Given the description of an element on the screen output the (x, y) to click on. 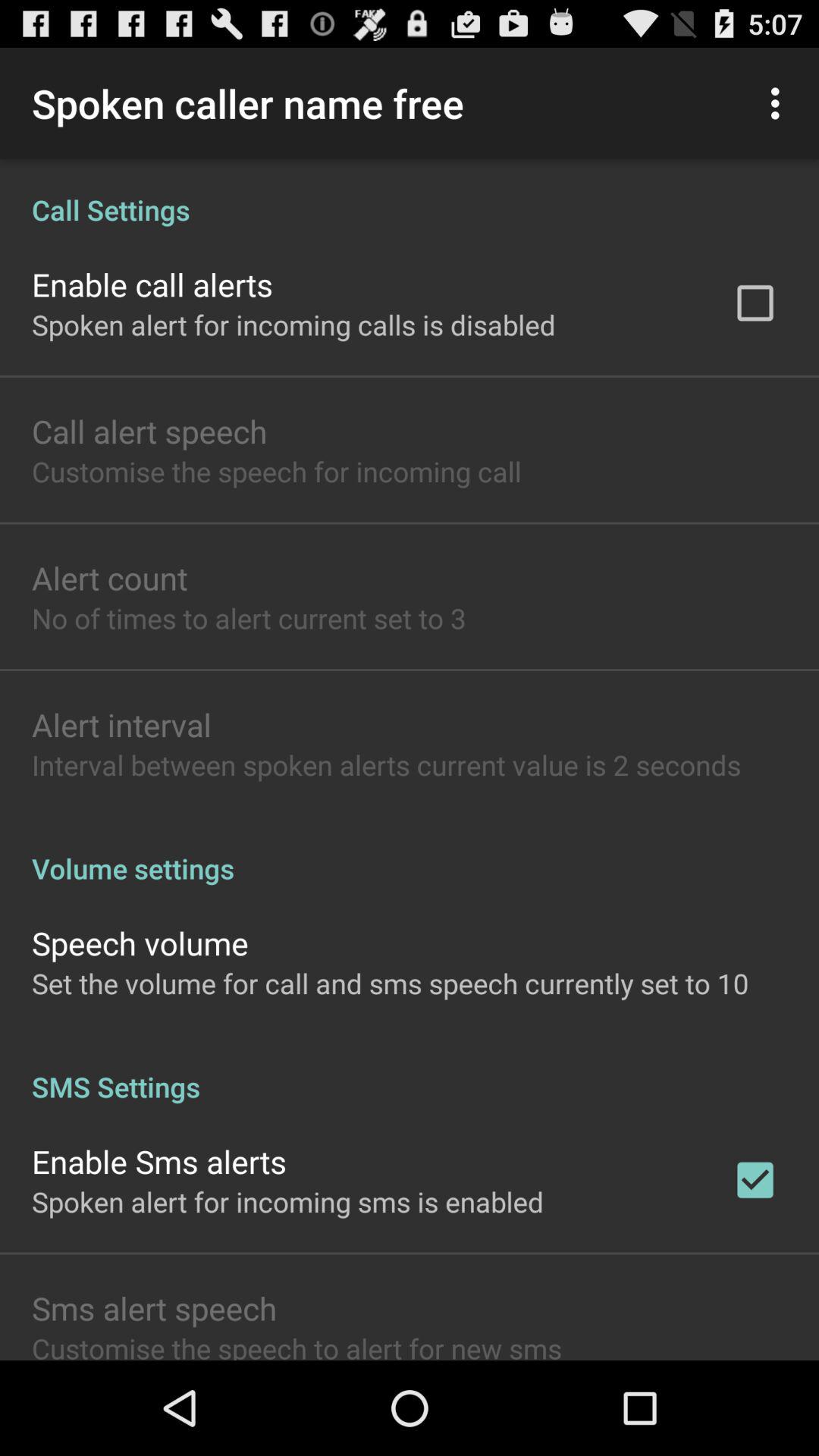
open alert count icon (109, 577)
